Given the description of an element on the screen output the (x, y) to click on. 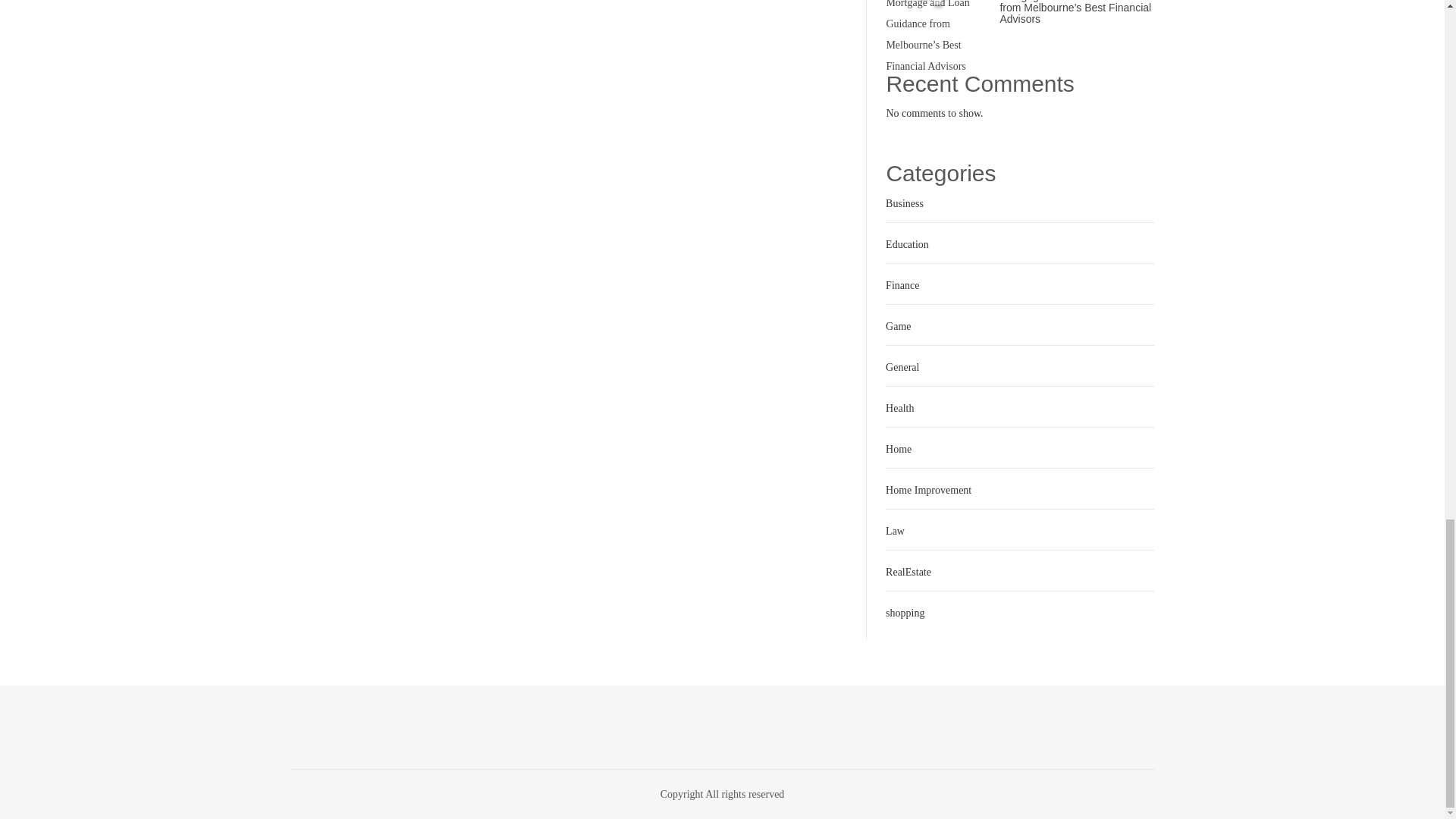
Business (902, 203)
Finance (900, 285)
Health (898, 408)
Home (896, 449)
General (900, 367)
Education (905, 244)
Game (896, 326)
